Given the description of an element on the screen output the (x, y) to click on. 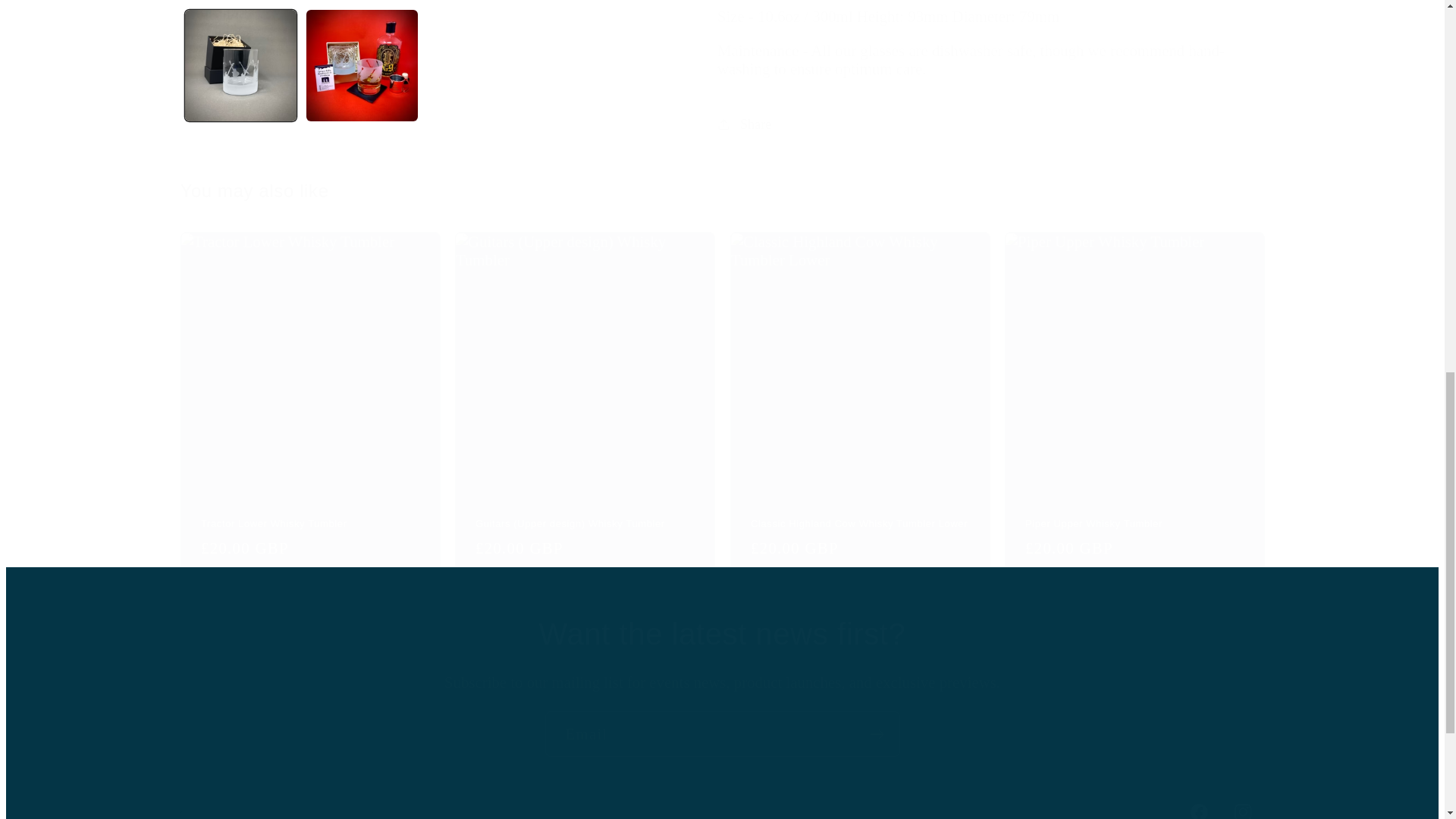
Email (721, 734)
Want the latest news first? (721, 633)
